Given the description of an element on the screen output the (x, y) to click on. 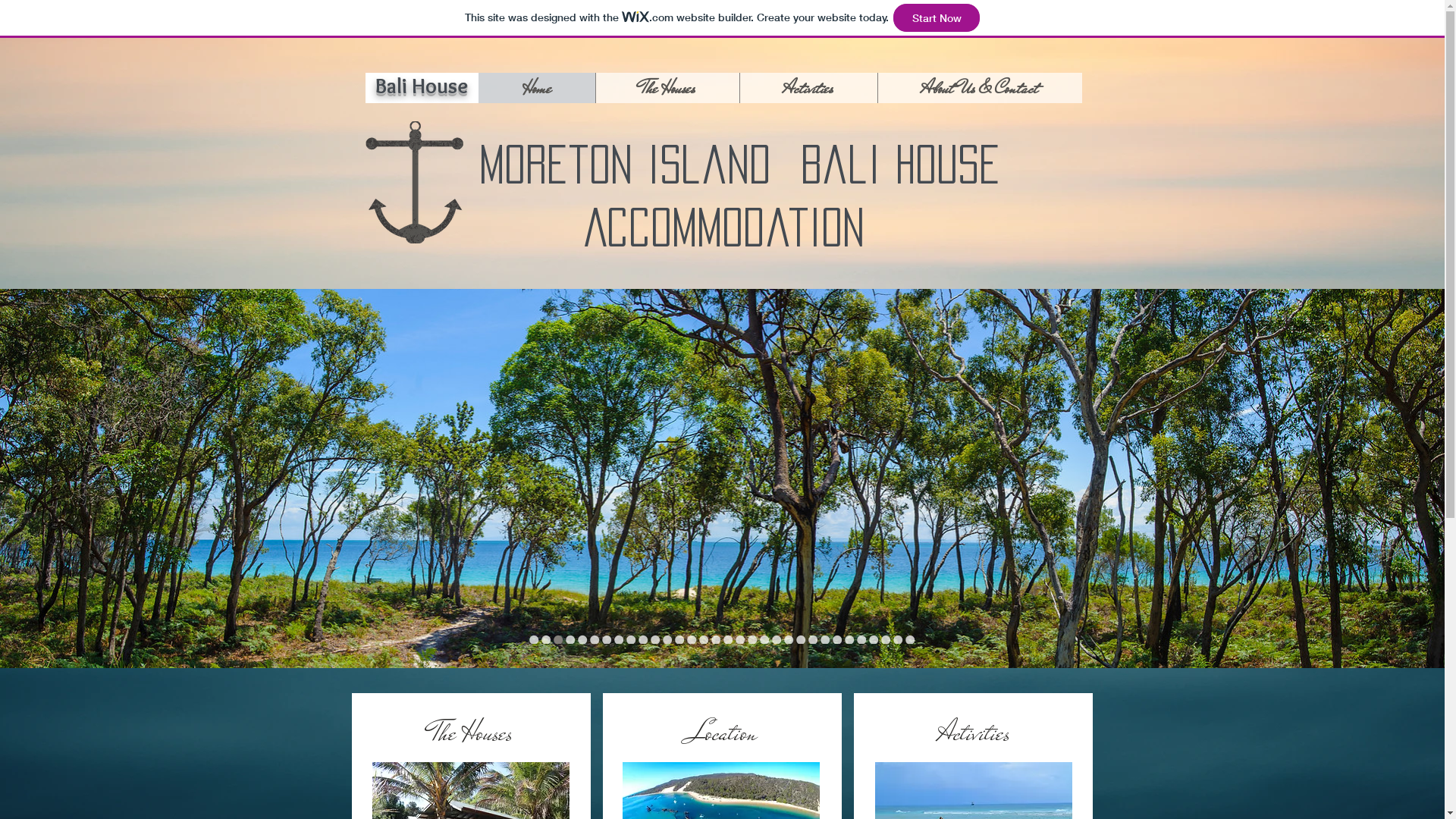
The Houses Element type: text (666, 87)
About Us & Contact Element type: text (978, 87)
Home Element type: text (535, 87)
Activities Element type: text (807, 87)
